Given the description of an element on the screen output the (x, y) to click on. 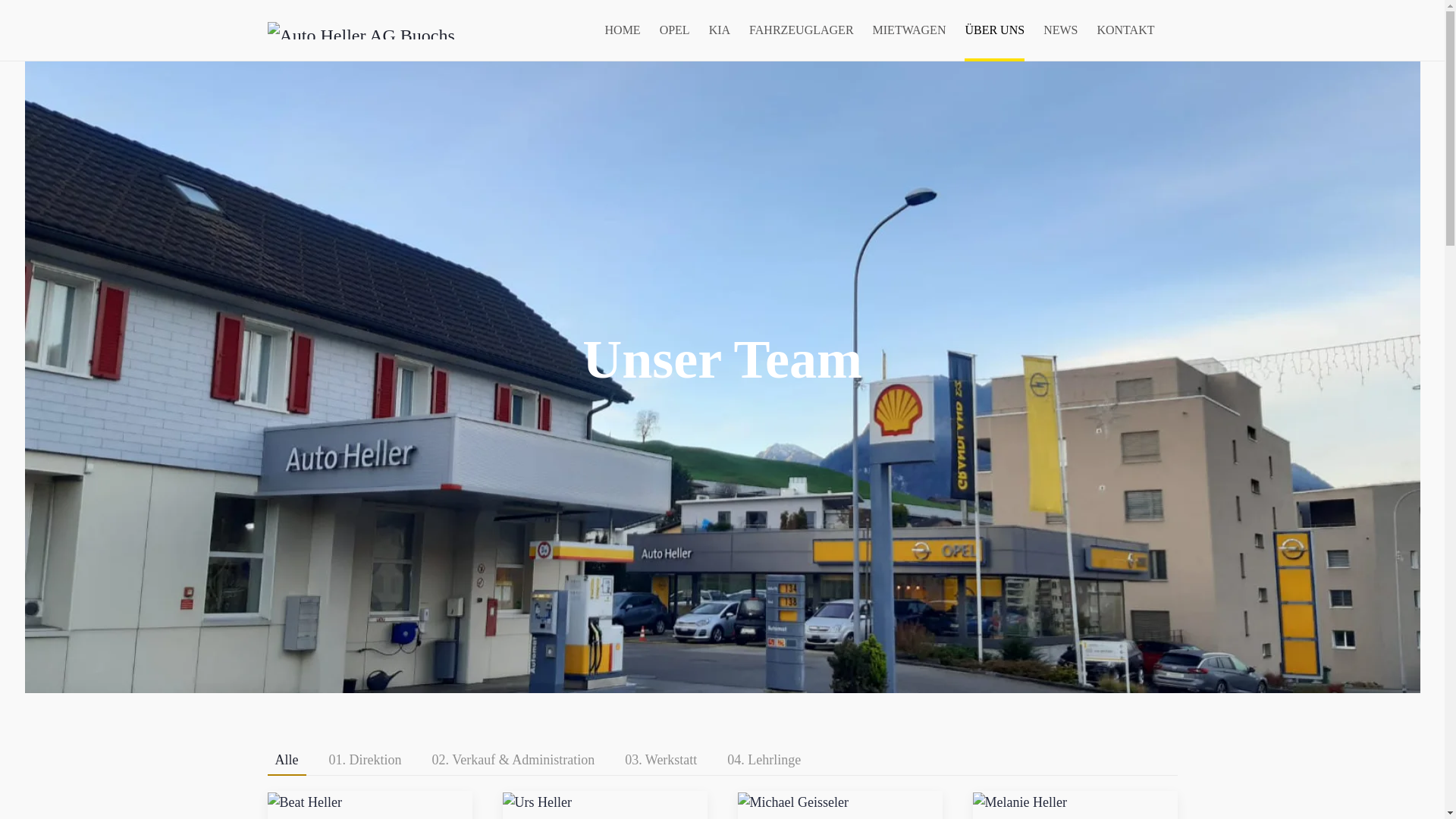
Alle Element type: text (285, 760)
HOME Element type: text (622, 30)
MIETWAGEN Element type: text (909, 30)
OPEL Element type: text (674, 30)
03. Werkstatt Element type: text (660, 760)
01. Direktion Element type: text (365, 760)
KONTAKT Element type: text (1125, 30)
02. Verkauf & Administration Element type: text (513, 760)
KIA Element type: text (719, 30)
04. Lehrlinge Element type: text (763, 760)
NEWS Element type: text (1060, 30)
FAHRZEUGLAGER Element type: text (801, 30)
